Given the description of an element on the screen output the (x, y) to click on. 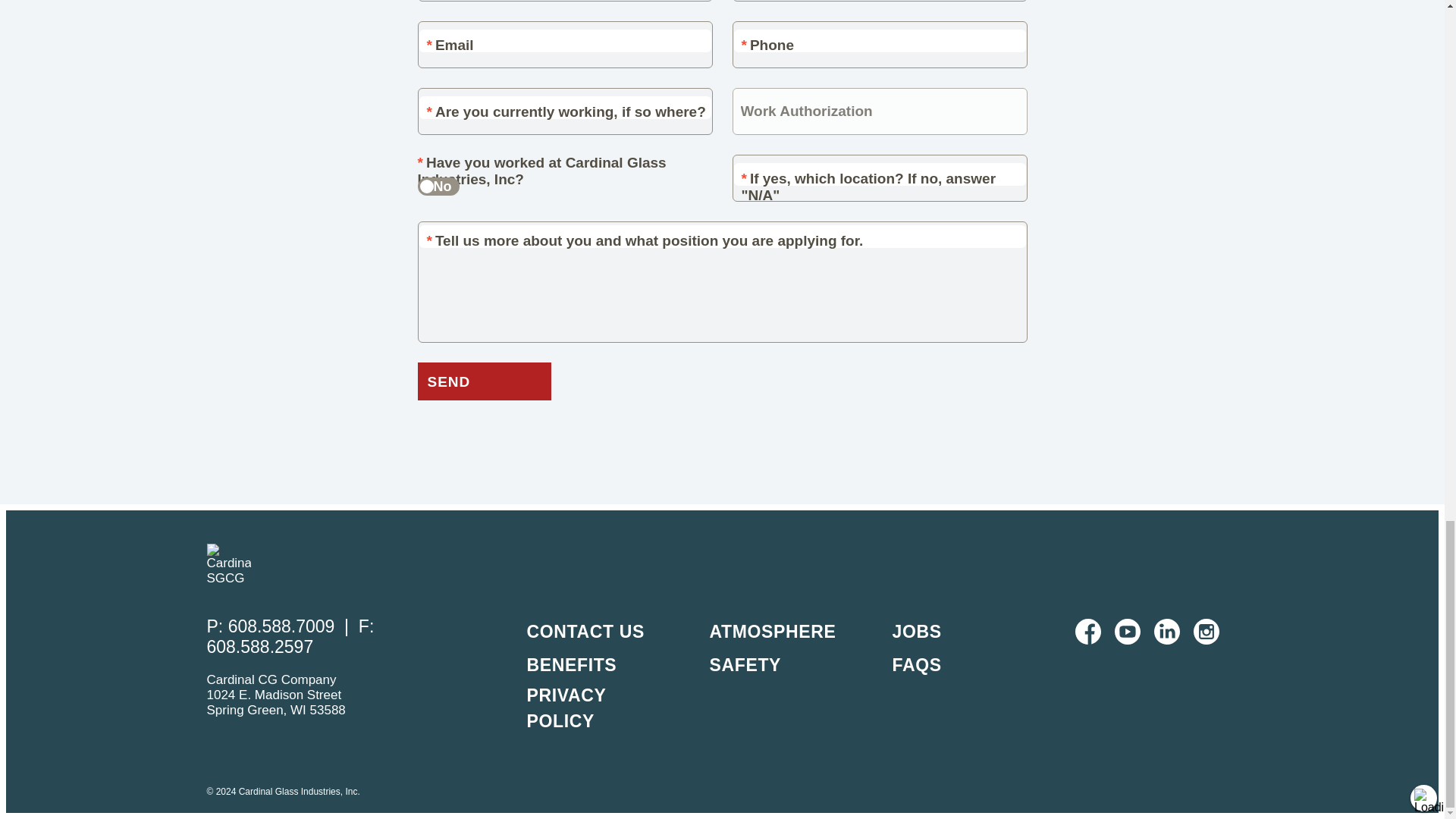
Like us on Facebook (1087, 631)
Cardinal SGCG (228, 563)
Connect with us on LinkedIn (1166, 631)
BENEFITS (570, 664)
PRIVACY POLICY (565, 708)
Subscribe to us on YouTube (1127, 631)
Send (483, 381)
CONTACT US (584, 631)
608.588.7009 (283, 625)
Follow us on Instagram (1206, 631)
